Given the description of an element on the screen output the (x, y) to click on. 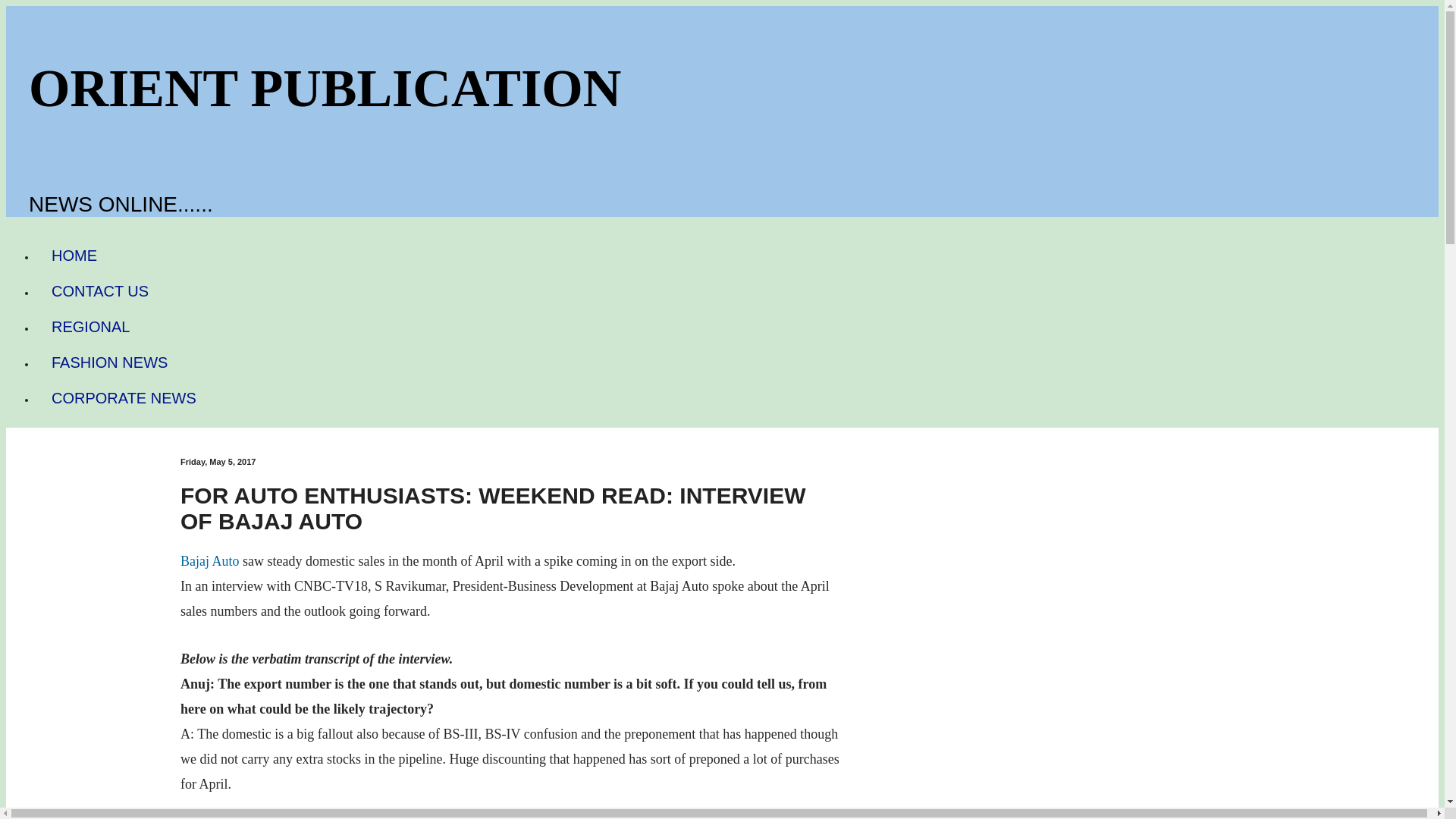
CORPORATE NEWS (123, 398)
FASHION NEWS (109, 362)
CONTACT US (99, 291)
Bajaj Auto (210, 560)
REGIONAL (90, 326)
ORIENT PUBLICATION (325, 87)
HOME (74, 255)
